Given the description of an element on the screen output the (x, y) to click on. 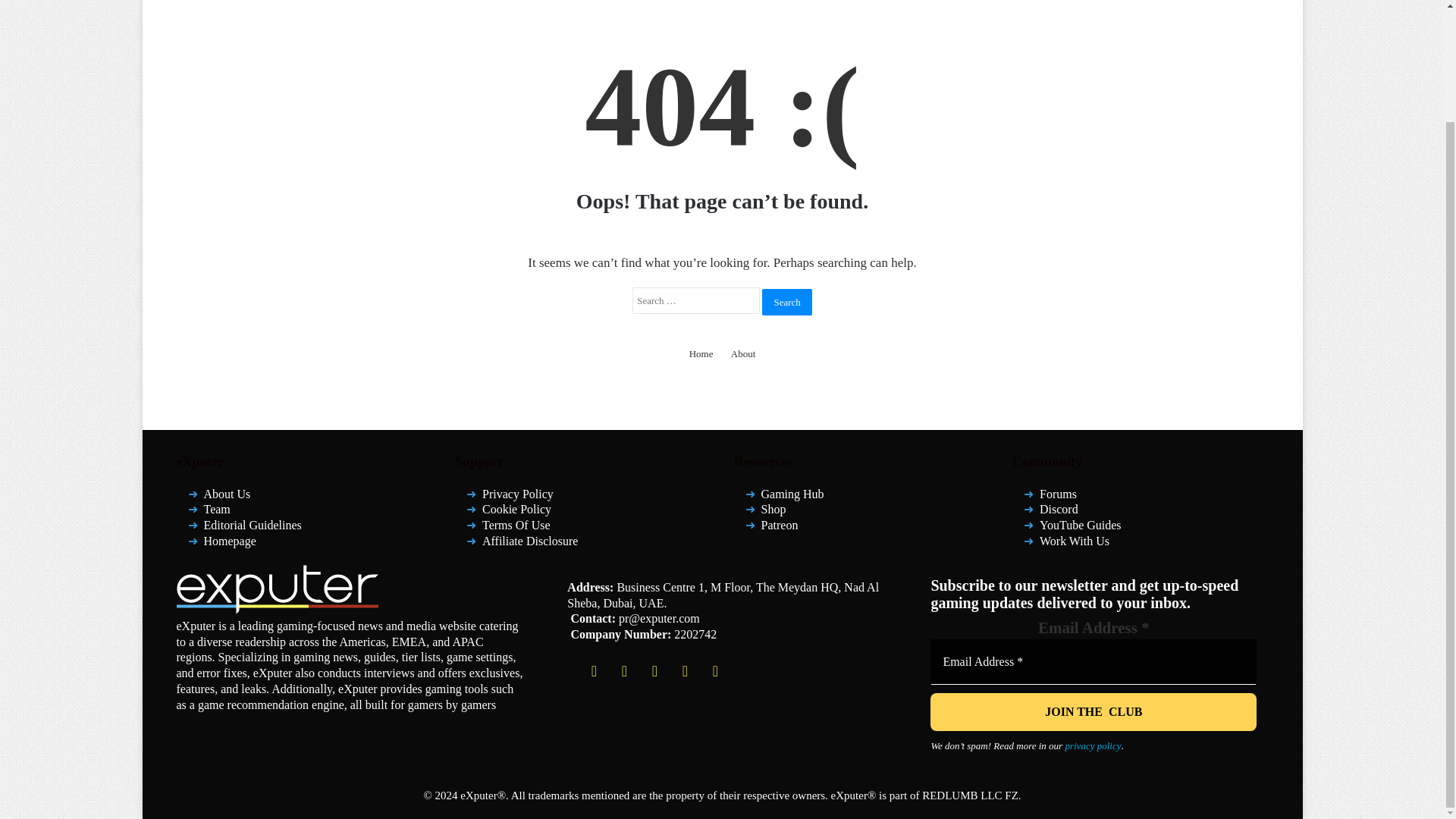
Email Address (1093, 661)
Search (785, 301)
JOIN THE  CLUB (1093, 711)
Search (785, 301)
